Given the description of an element on the screen output the (x, y) to click on. 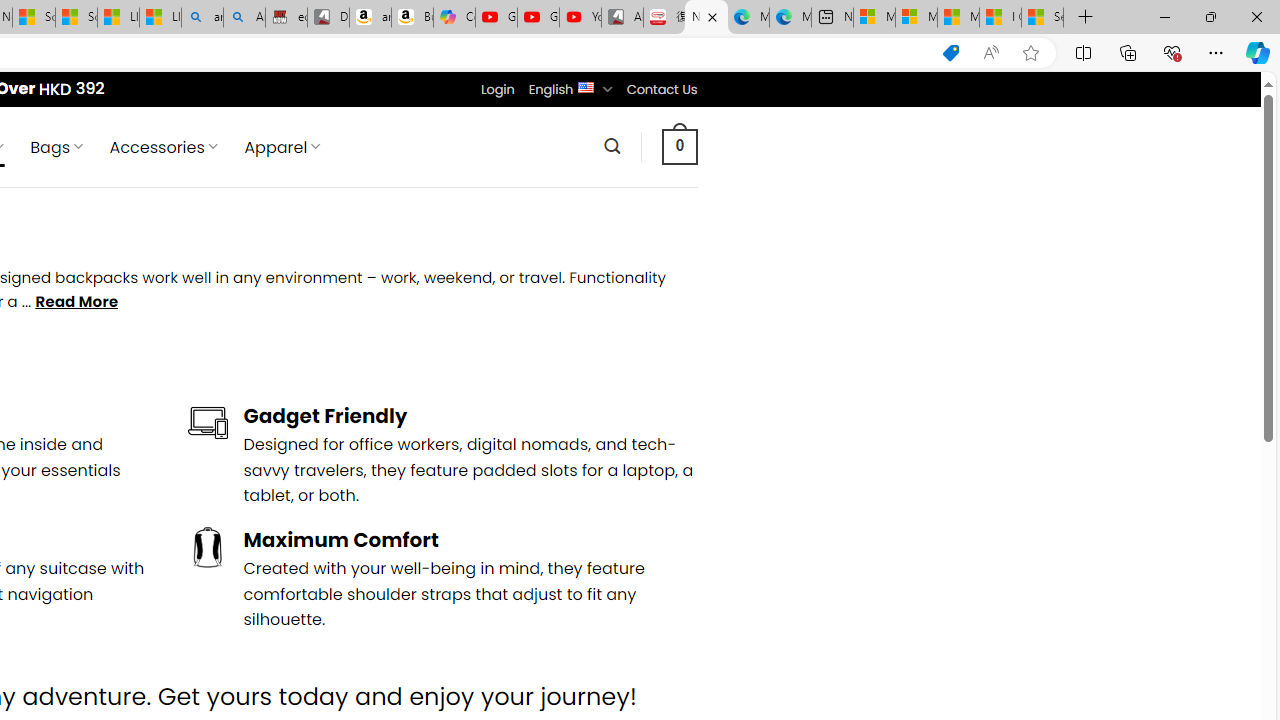
amazon - Search (201, 17)
Contact Us (661, 89)
